Given the description of an element on the screen output the (x, y) to click on. 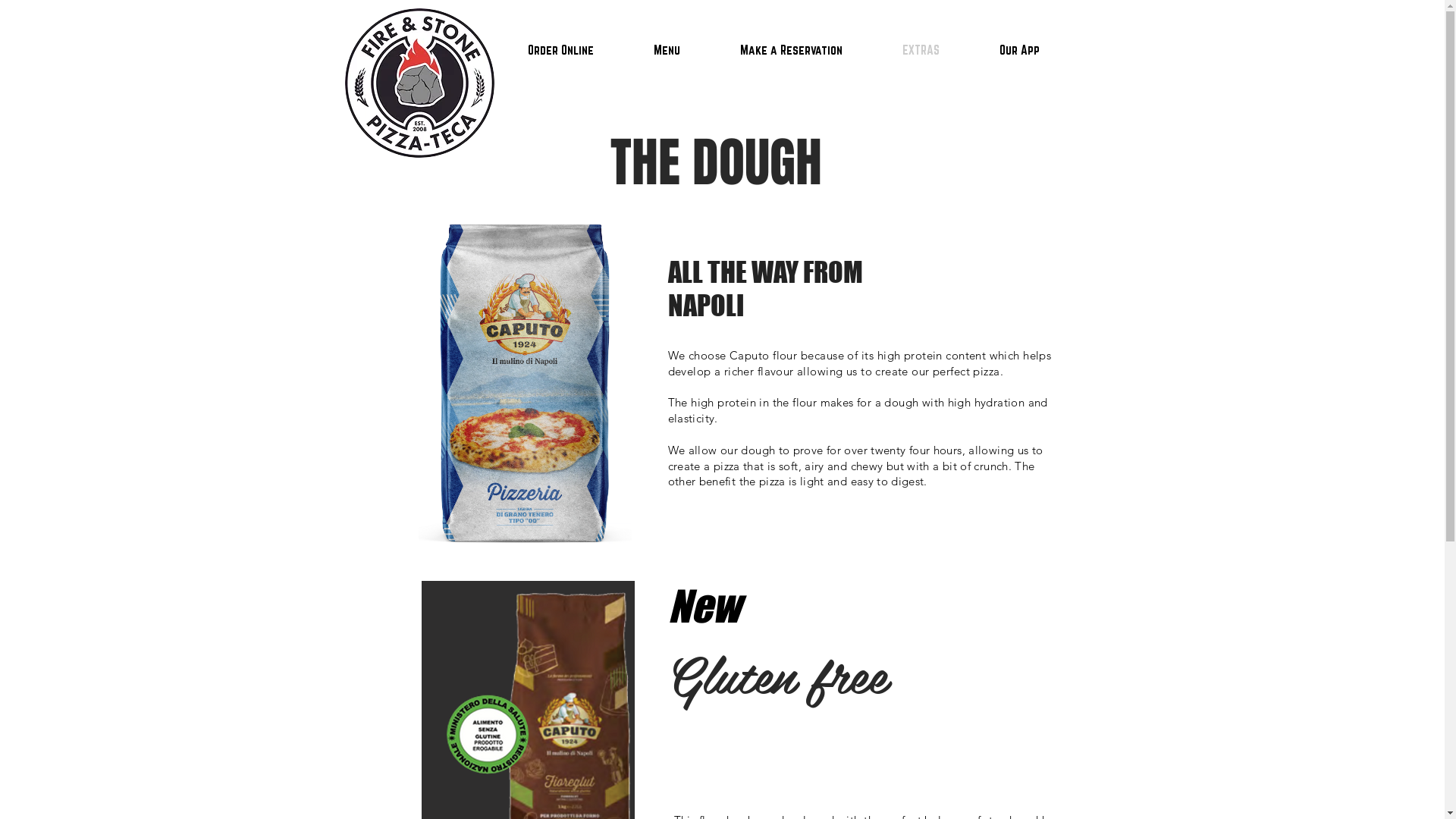
Make a Reservation Element type: text (790, 49)
EXTRAS Element type: text (920, 49)
Menu Element type: text (666, 49)
Order Online Element type: text (560, 49)
Our App Element type: text (1018, 49)
